Given the description of an element on the screen output the (x, y) to click on. 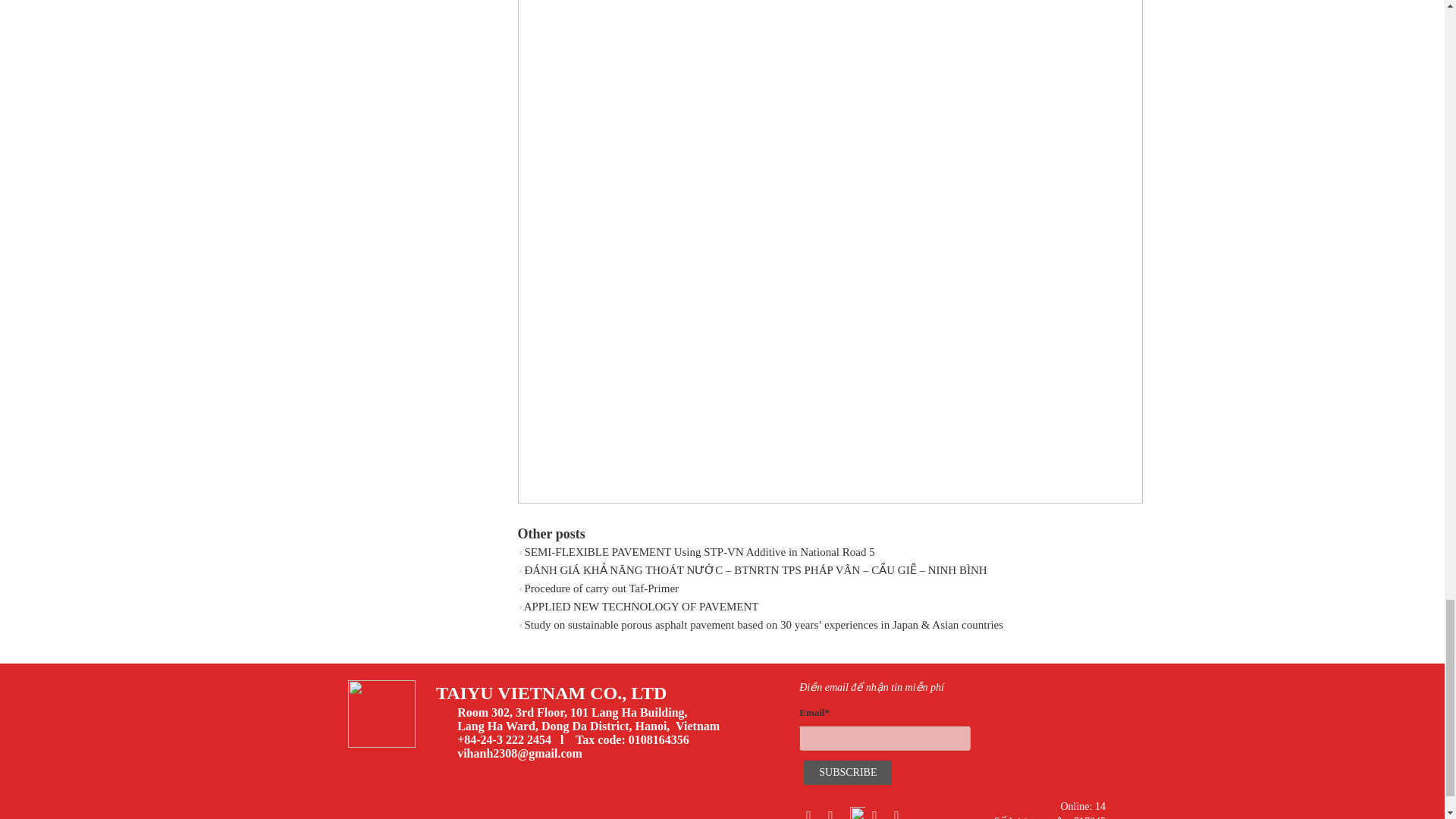
Subscribe (847, 772)
Procedure of carry out Taf-Primer (601, 588)
APPLIED NEW TECHNOLOGY OF PAVEMENT (641, 606)
Subscribe (847, 772)
